Given the description of an element on the screen output the (x, y) to click on. 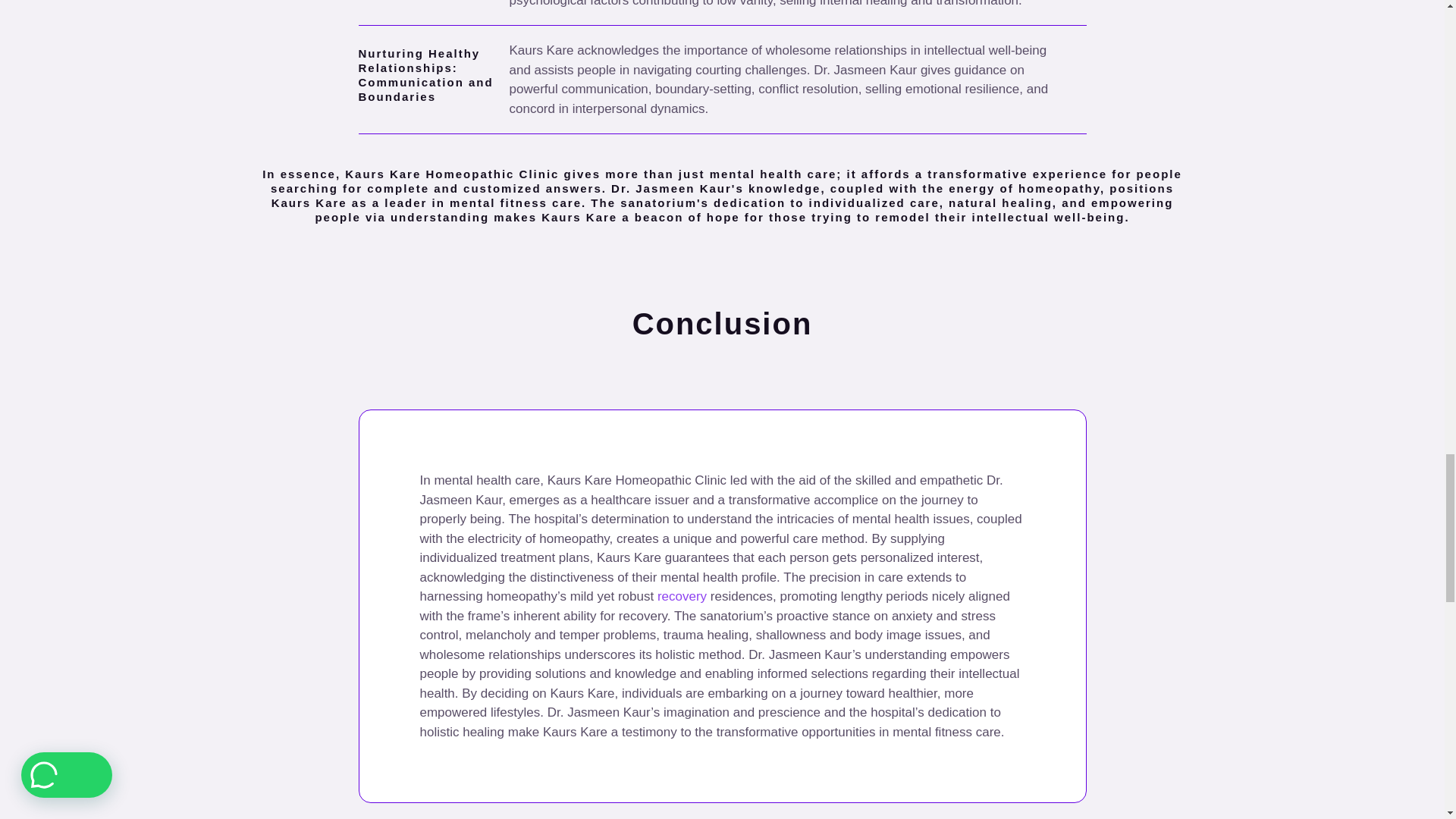
recovery (682, 595)
